Given the description of an element on the screen output the (x, y) to click on. 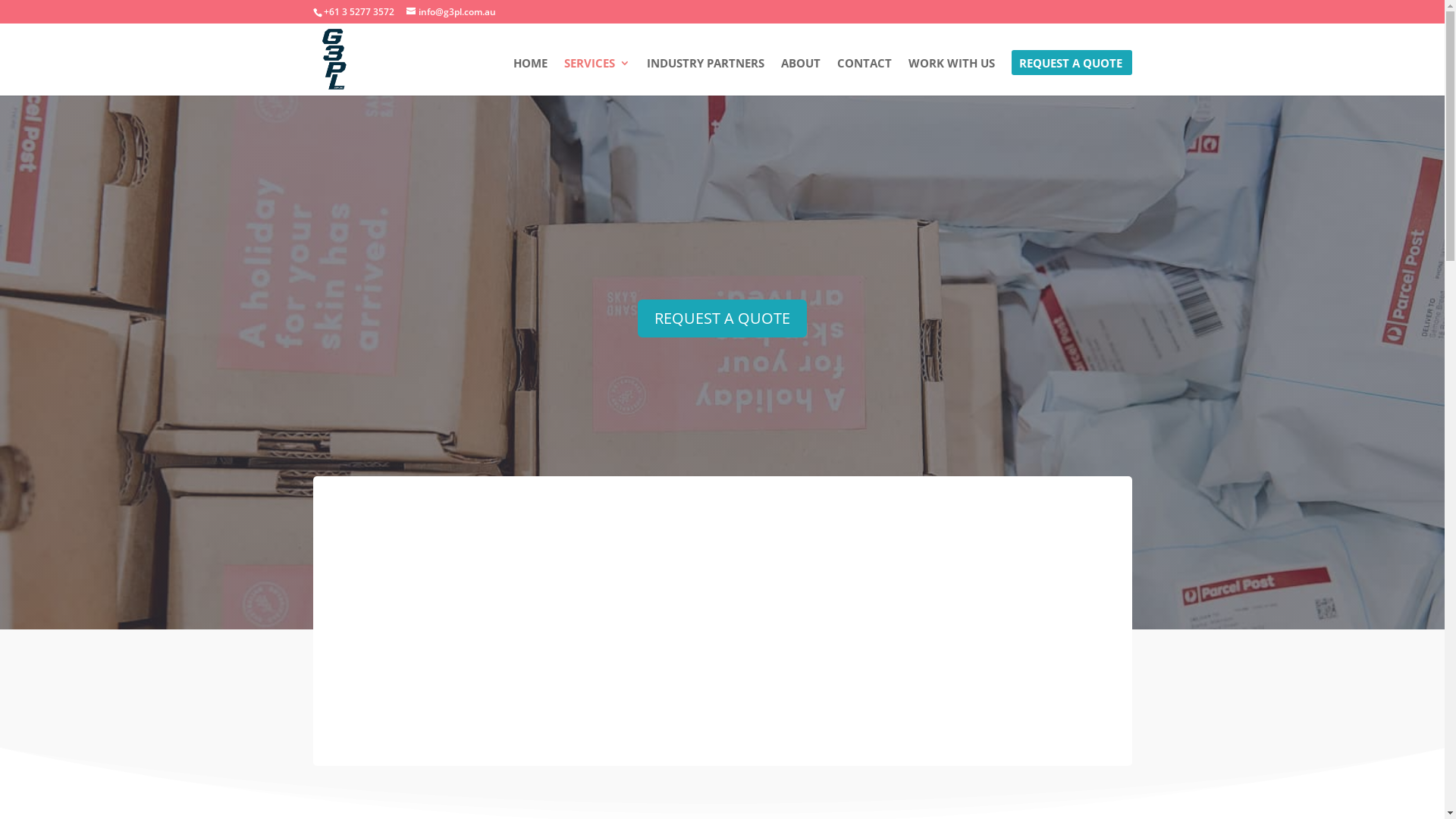
CONTACT Element type: text (864, 76)
REQUEST A QUOTE Element type: text (721, 318)
+61 3 5277 3572 Element type: text (359, 11)
ABOUT Element type: text (800, 76)
SERVICES Element type: text (597, 76)
HOME Element type: text (529, 76)
INDUSTRY PARTNERS Element type: text (704, 76)
WORK WITH US Element type: text (951, 76)
info@g3pl.com.au Element type: text (450, 11)
REQUEST A QUOTE Element type: text (1070, 76)
